Given the description of an element on the screen output the (x, y) to click on. 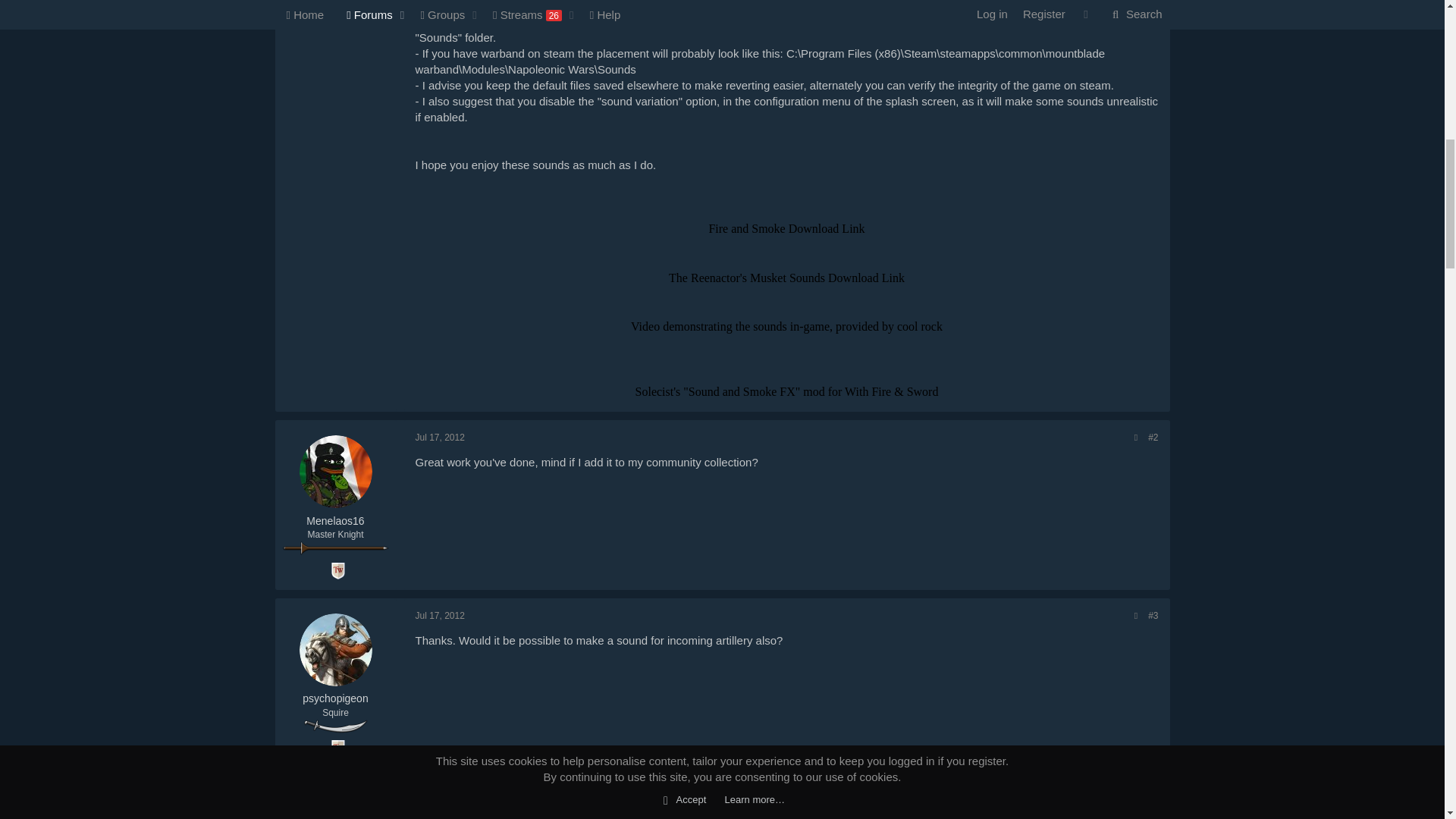
Jul 17, 2012 at 8:36 PM (439, 615)
Jul 17, 2012 at 8:39 PM (439, 792)
Jul 17, 2012 at 8:34 PM (439, 437)
